Given the description of an element on the screen output the (x, y) to click on. 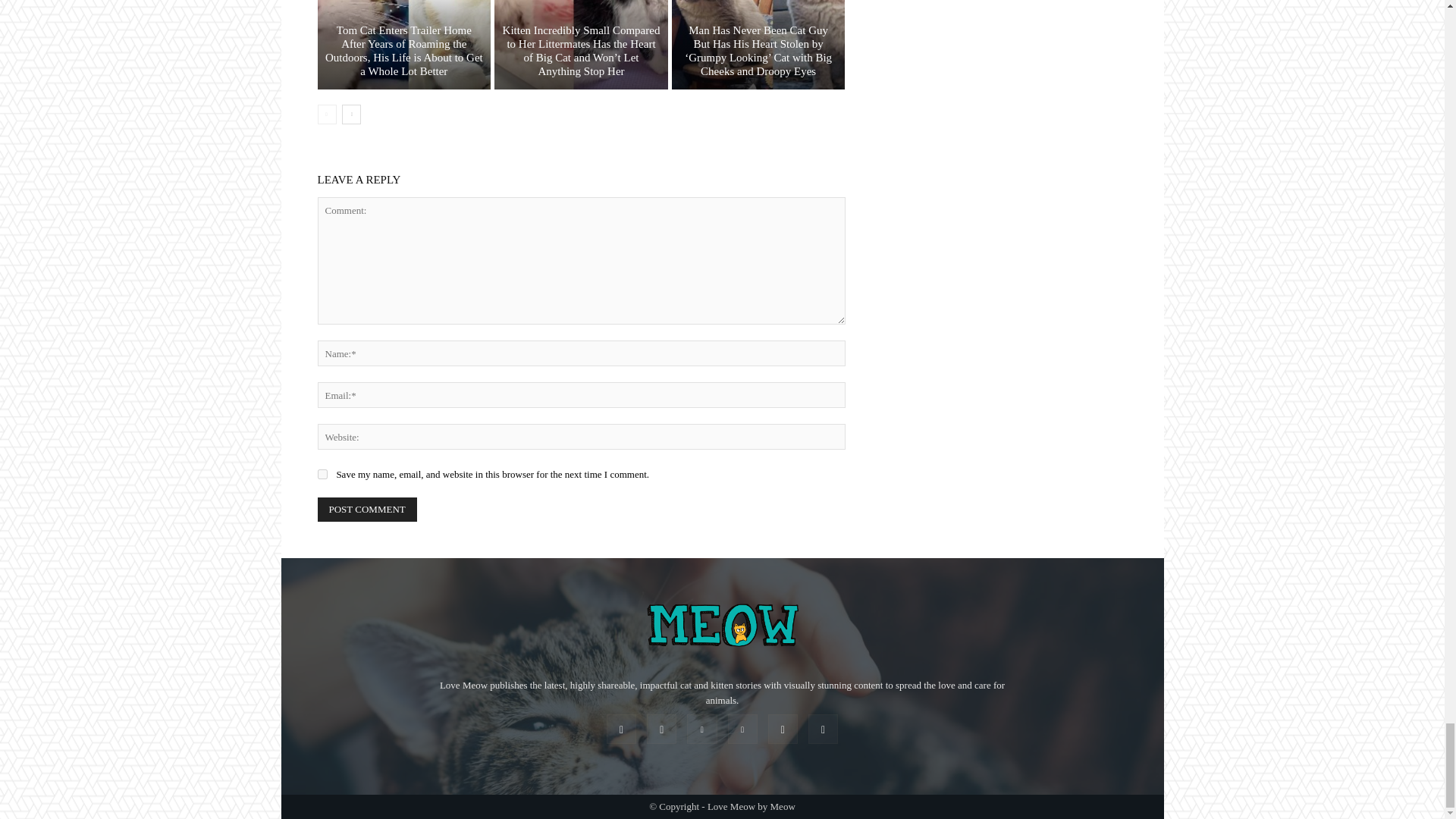
Post Comment (366, 509)
yes (321, 474)
